Given the description of an element on the screen output the (x, y) to click on. 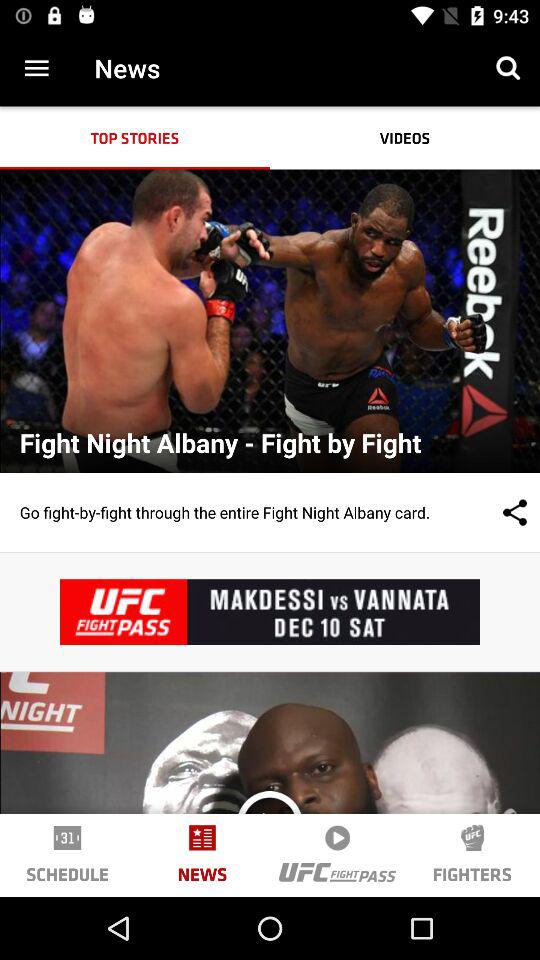
ufc fight pass makdessi vs vannata dec 10 sat (270, 612)
